Given the description of an element on the screen output the (x, y) to click on. 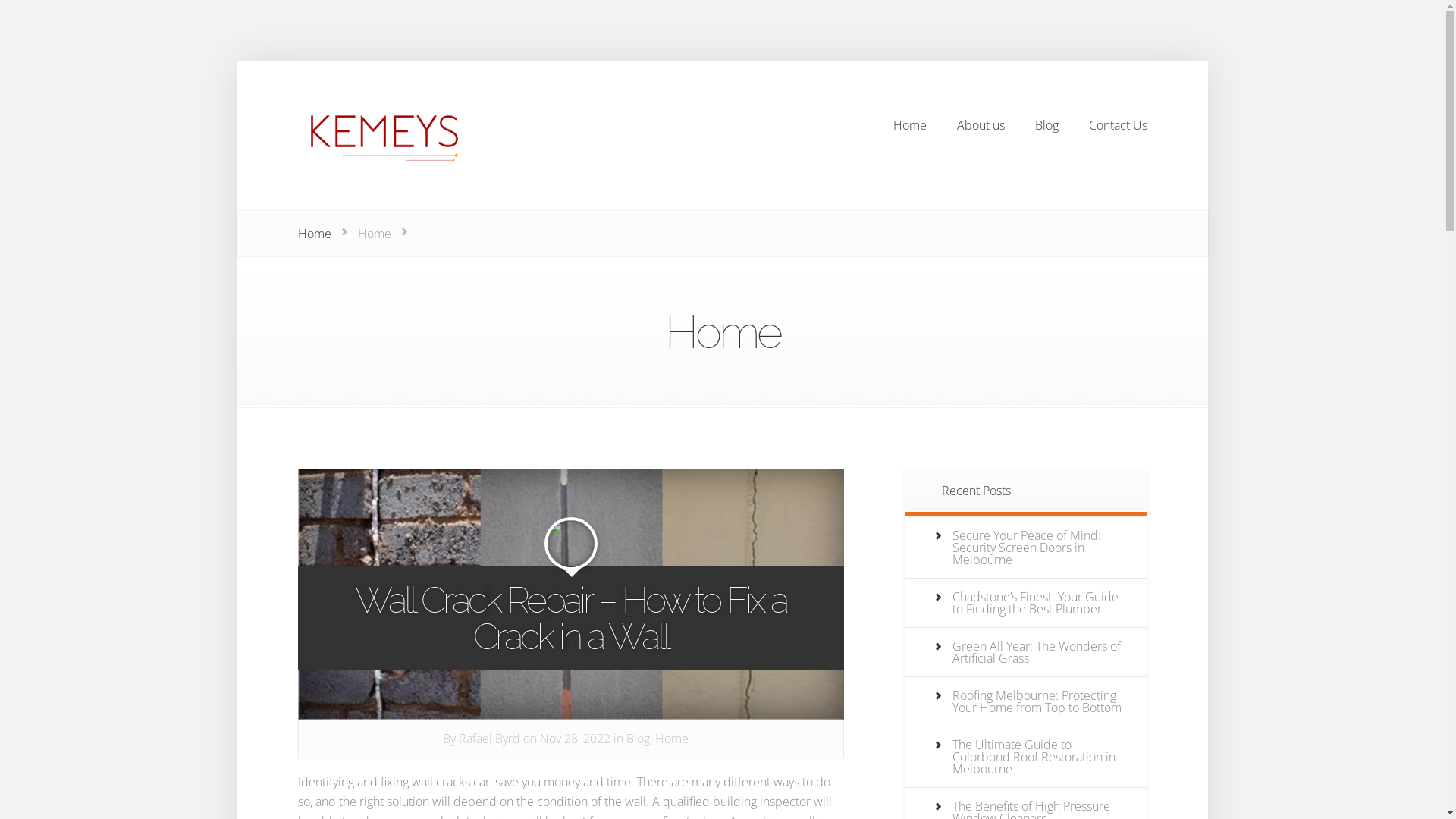
Home Element type: text (313, 233)
Blog Element type: text (1045, 124)
Rafael Byrd Element type: text (489, 738)
Roofing Melbourne: Protecting Your Home from Top to Bottom Element type: text (1036, 701)
Contact Us Element type: text (1118, 124)
Blog Element type: text (637, 738)
About us Element type: text (980, 124)
Green All Year: The Wonders of Artificial Grass Element type: text (1036, 651)
Home Element type: text (671, 738)
Home Element type: text (909, 124)
